Given the description of an element on the screen output the (x, y) to click on. 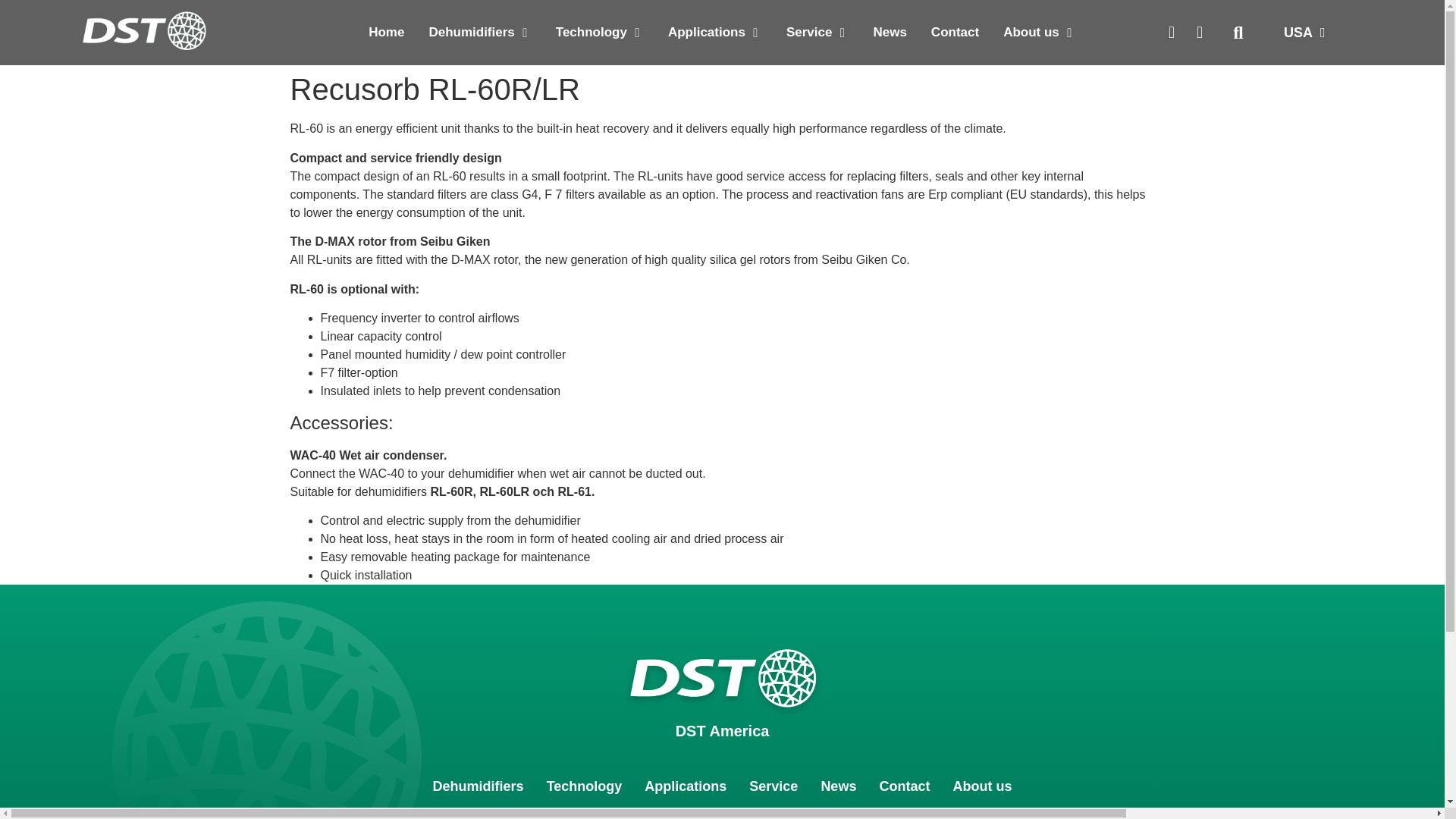
Home (386, 32)
USA (1304, 32)
Technology (591, 32)
Applications (706, 32)
Dehumidifiers (470, 32)
